Given the description of an element on the screen output the (x, y) to click on. 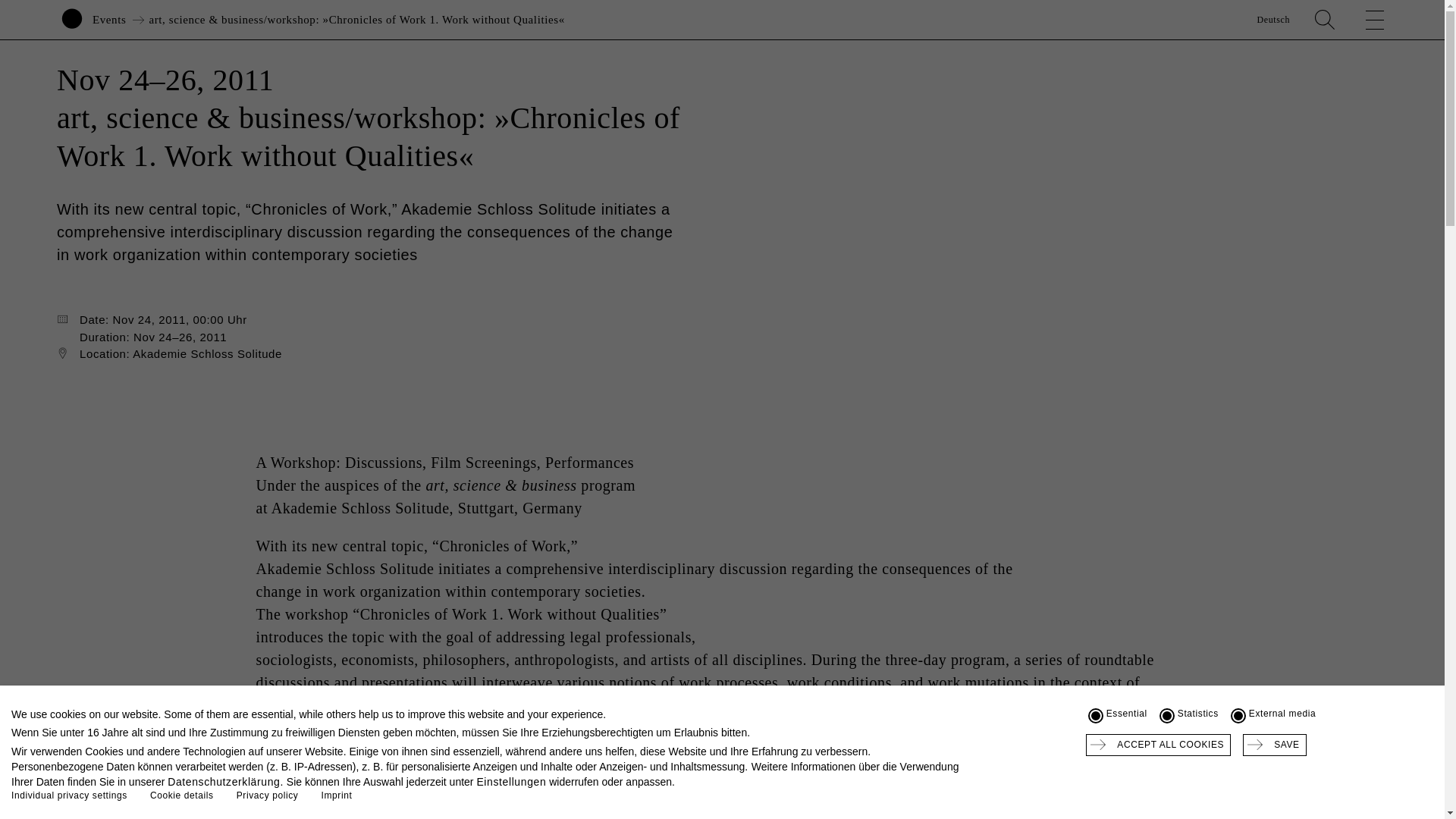
Deutsch (1273, 19)
Events (109, 19)
Search (1323, 19)
